Given the description of an element on the screen output the (x, y) to click on. 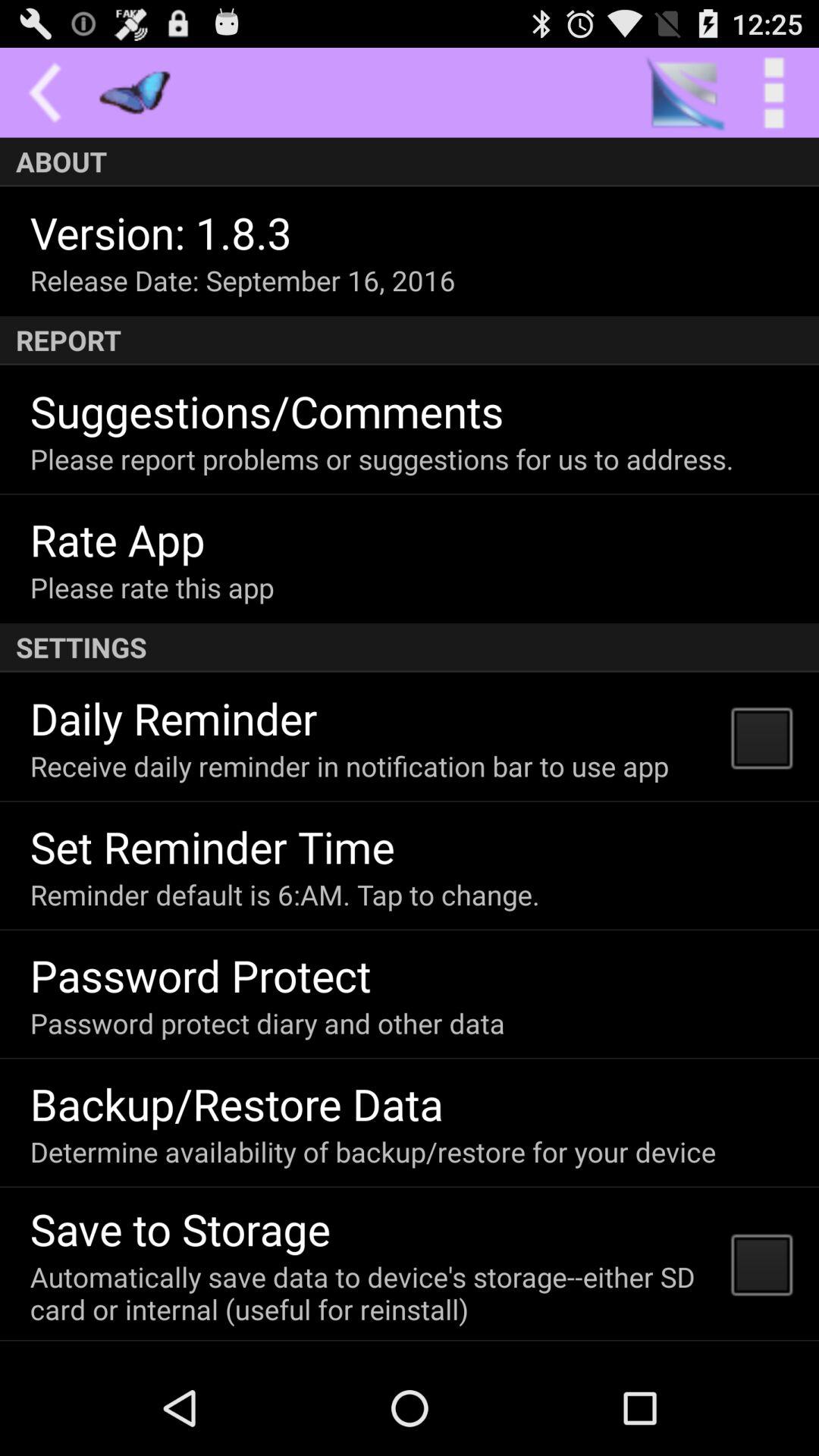
choose the reminder default is icon (284, 894)
